Given the description of an element on the screen output the (x, y) to click on. 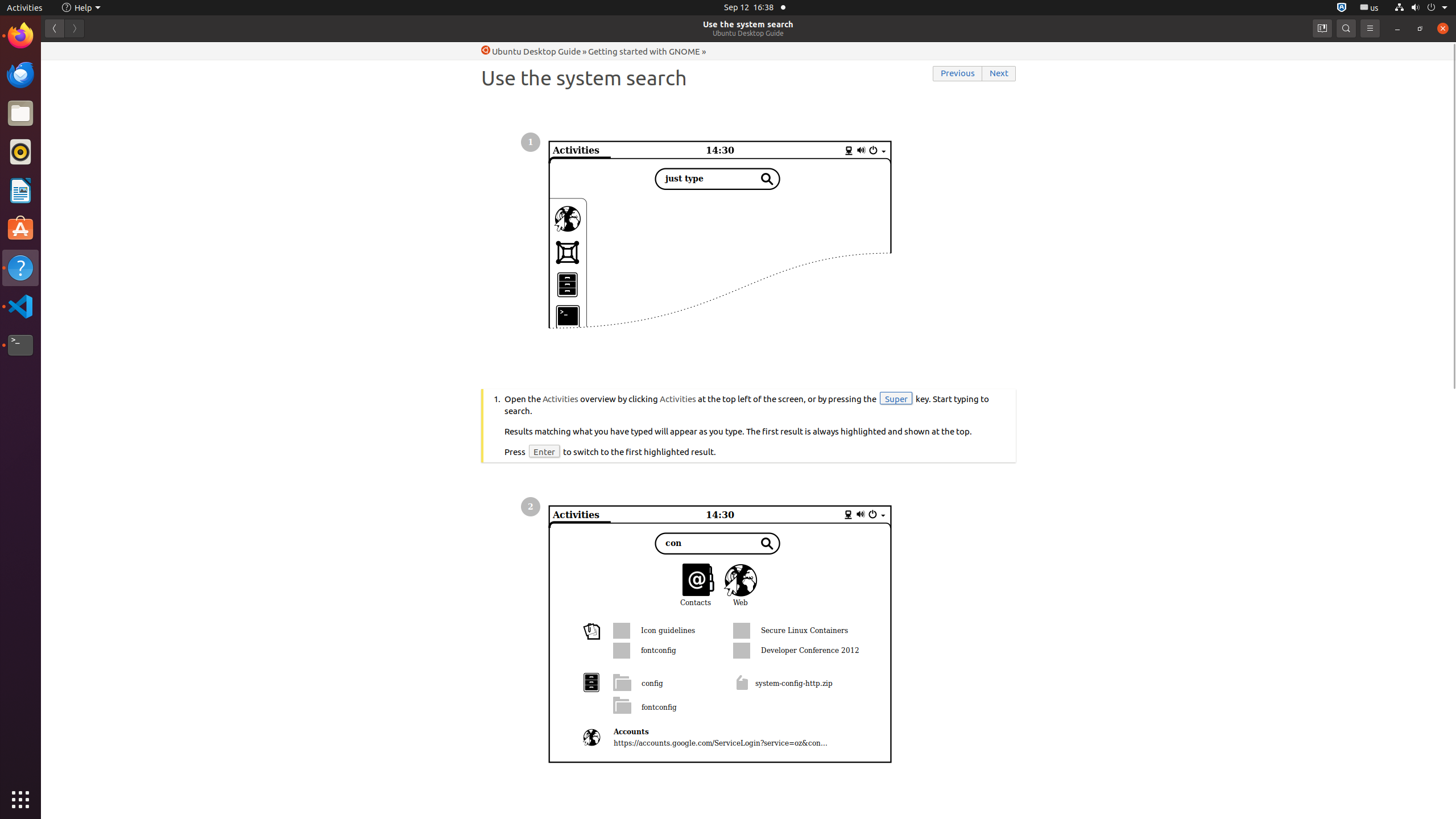
Results matching what you have typed will appear as you type. The first result is always highlighted and shown at the top. Press Enter to switch to the first highlighted result. Element type: list-item (755, 425)
Terminal Element type: push-button (20, 344)
